Given the description of an element on the screen output the (x, y) to click on. 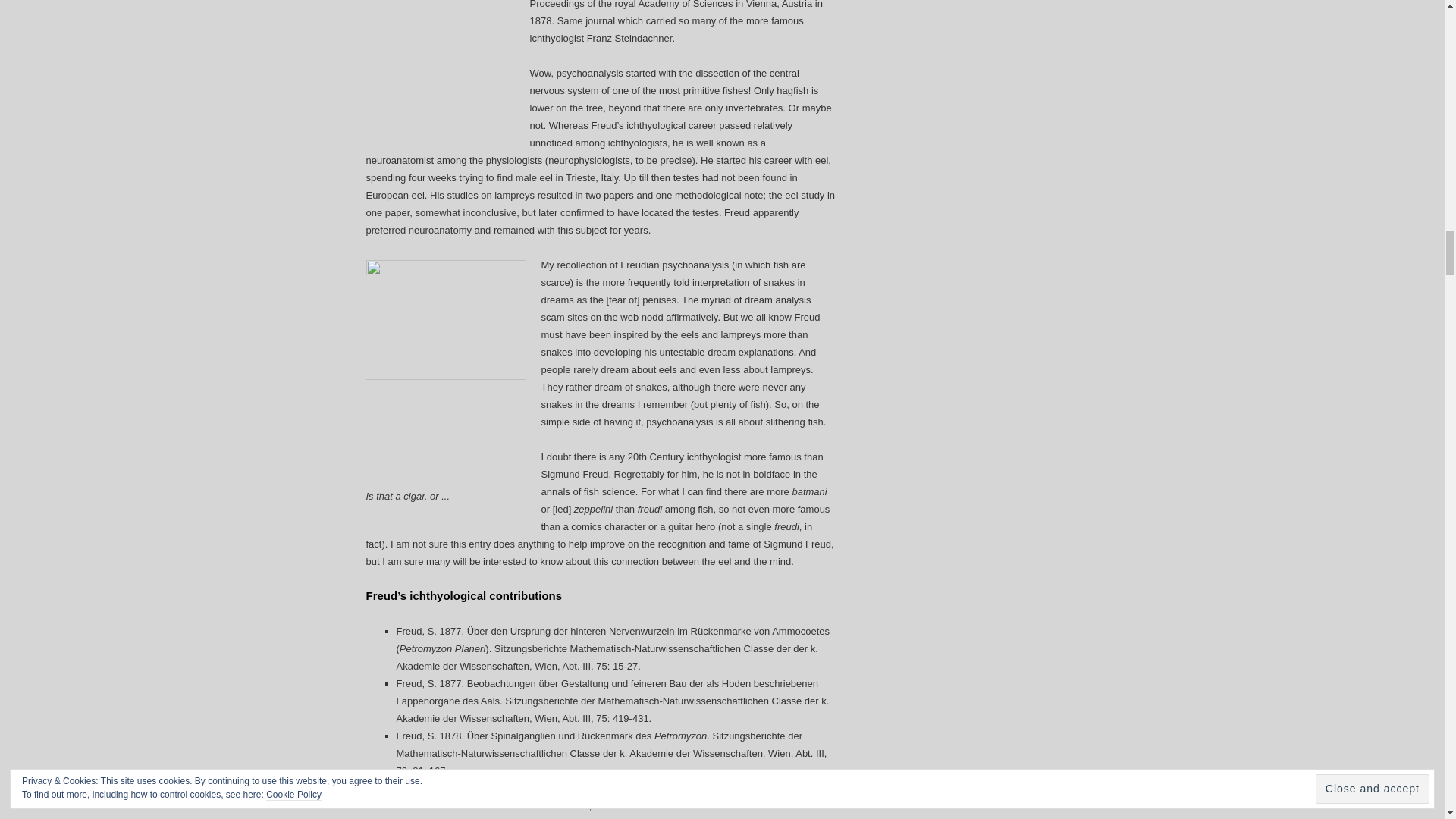
freud1878 (439, 69)
